Given the description of an element on the screen output the (x, y) to click on. 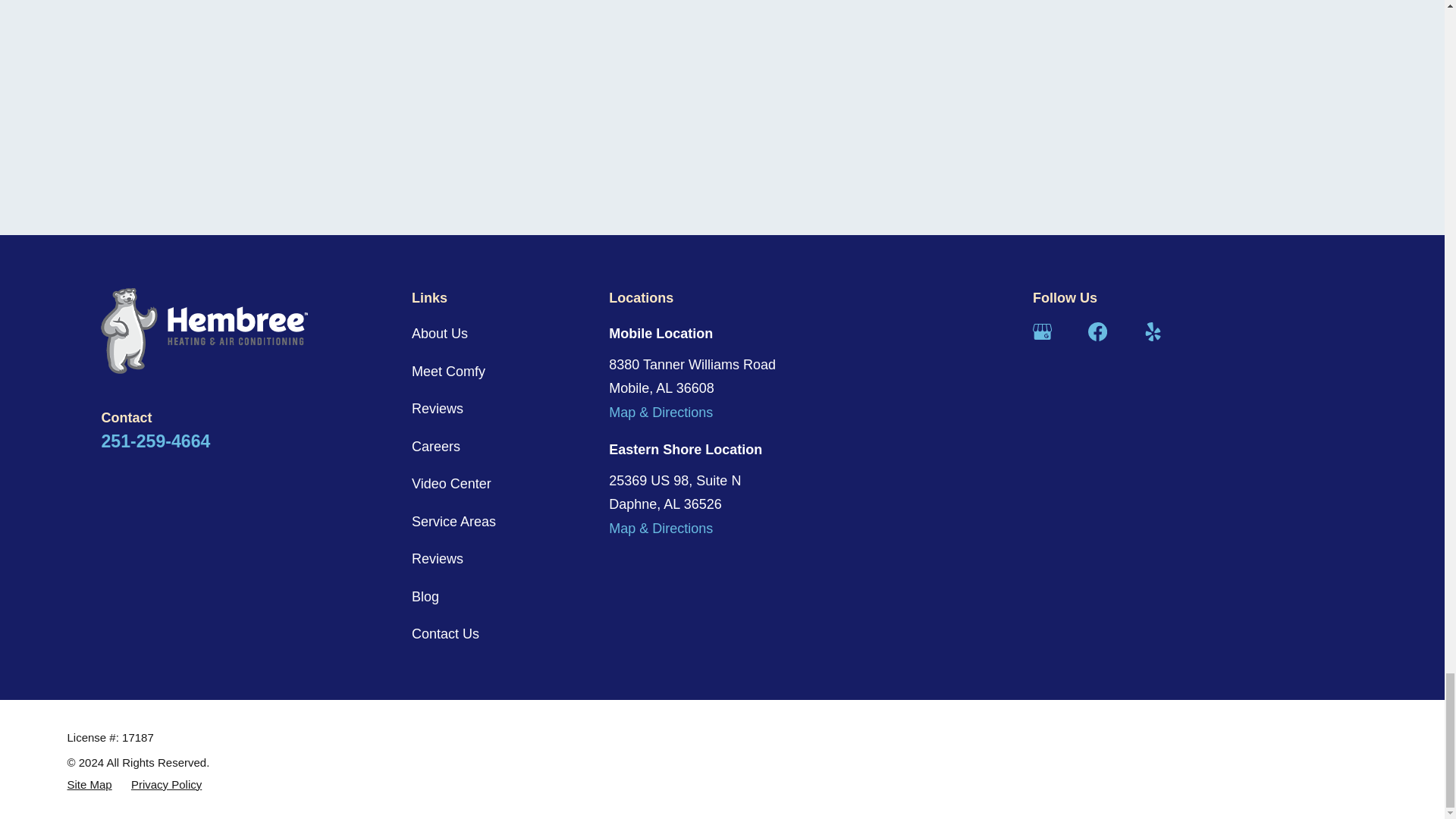
Facebook (1096, 331)
Home (209, 330)
Yelp (1151, 331)
Google Business Profile (1041, 331)
